Given the description of an element on the screen output the (x, y) to click on. 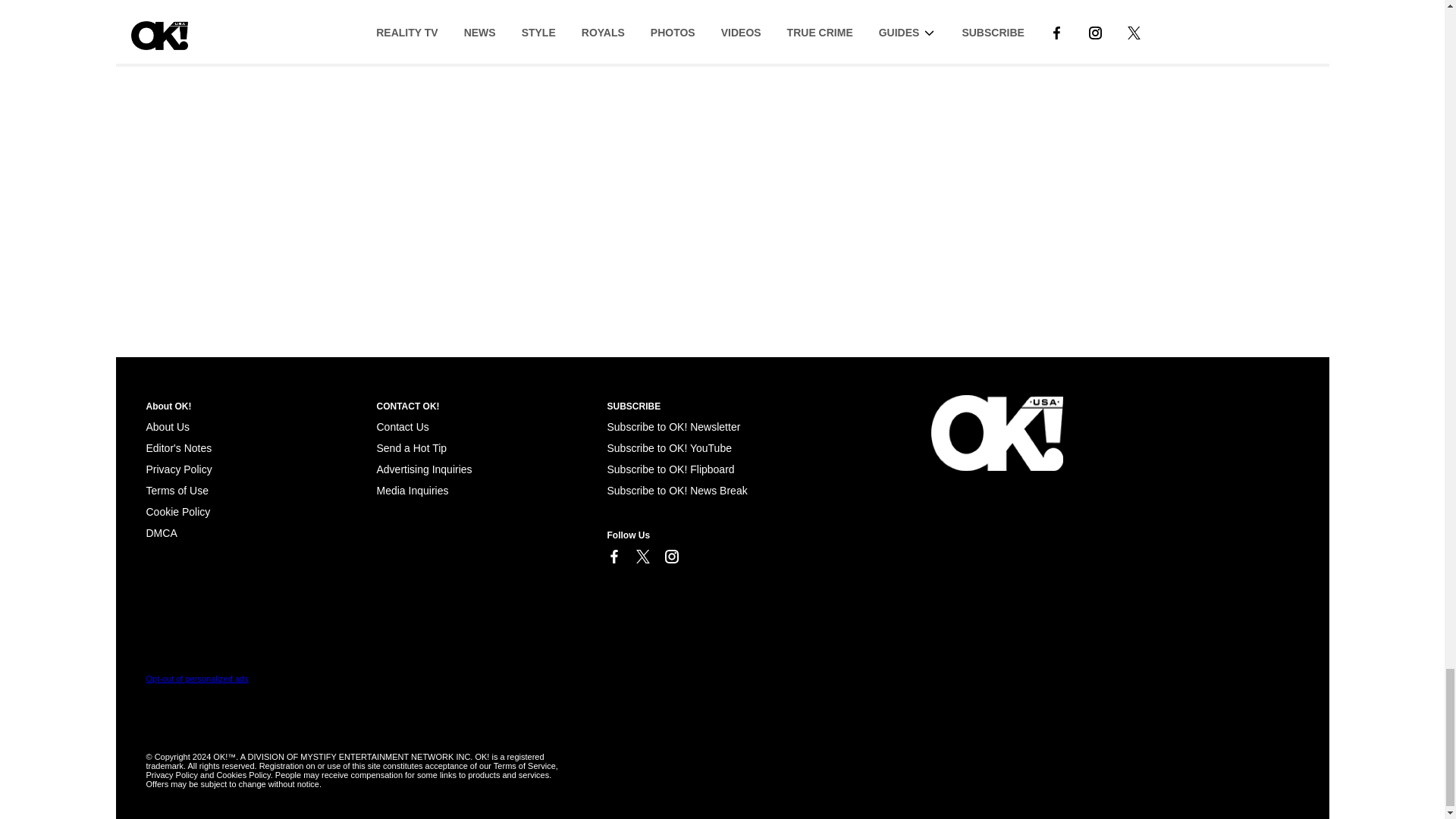
Terms of Use (176, 490)
Link to X (641, 556)
Contact Us (401, 426)
Editor's Notes (178, 448)
About Us (167, 426)
Link to Facebook (613, 556)
Cookie Policy (160, 532)
Privacy Policy (178, 469)
Link to Instagram (670, 556)
Cookie Policy (177, 511)
